Given the description of an element on the screen output the (x, y) to click on. 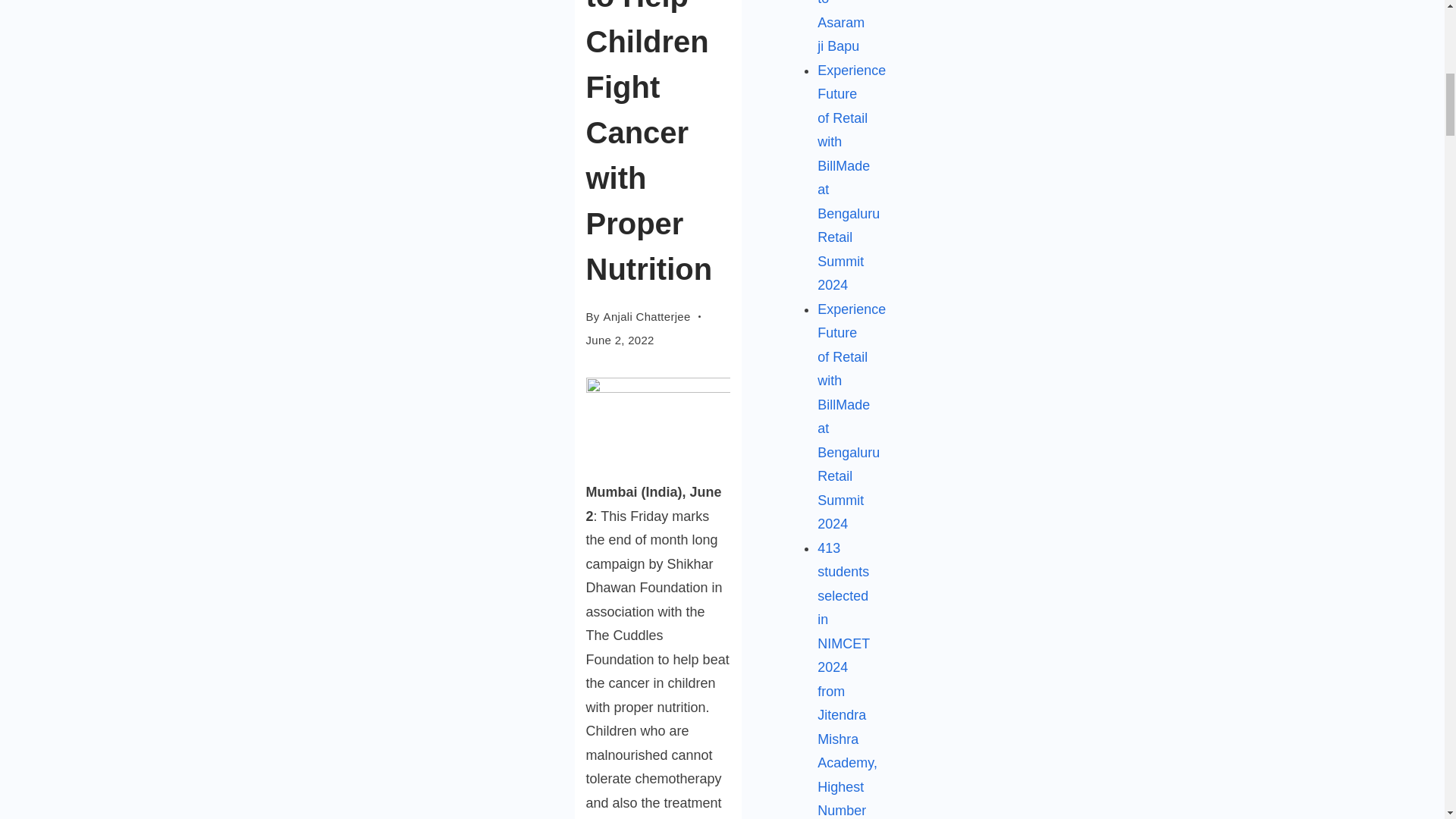
Anjali Chatterjee (647, 315)
